Given the description of an element on the screen output the (x, y) to click on. 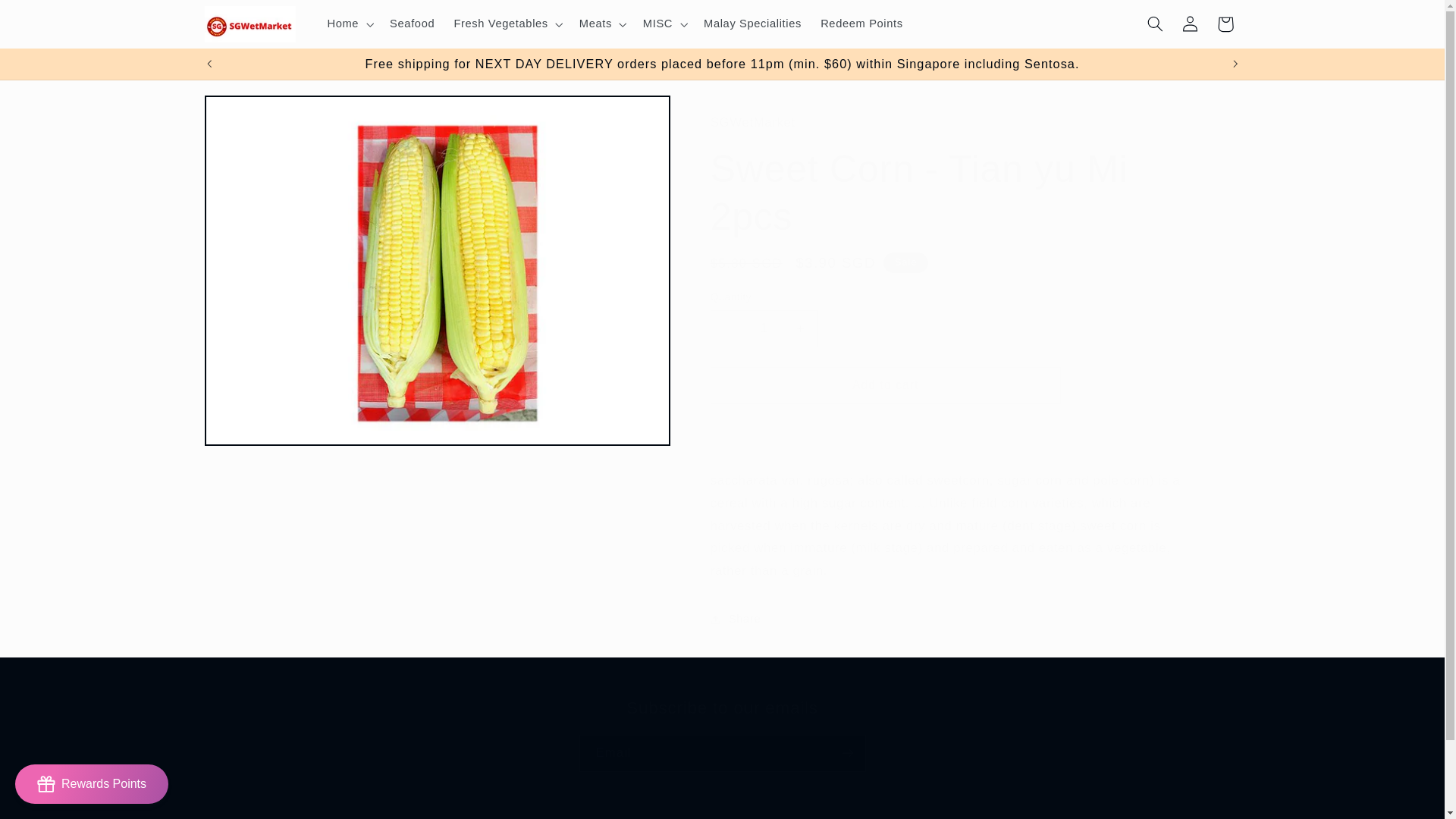
Skip to content (48, 18)
Seafood (412, 23)
1 (722, 734)
